Given the description of an element on the screen output the (x, y) to click on. 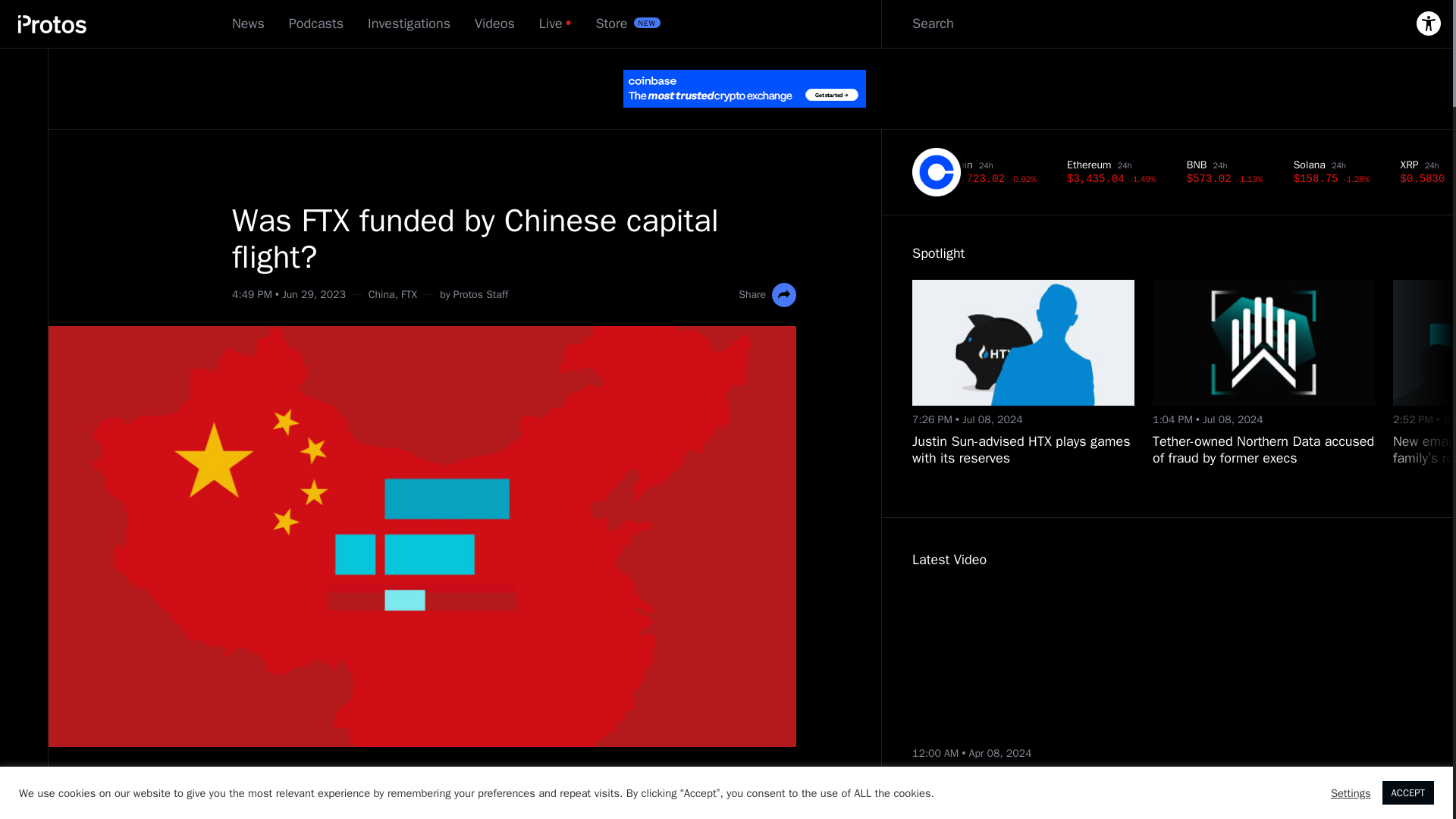
YouTube video player (1051, 662)
Protos Staff (480, 294)
China (381, 294)
Podcasts (315, 23)
Investigations (408, 23)
